Given the description of an element on the screen output the (x, y) to click on. 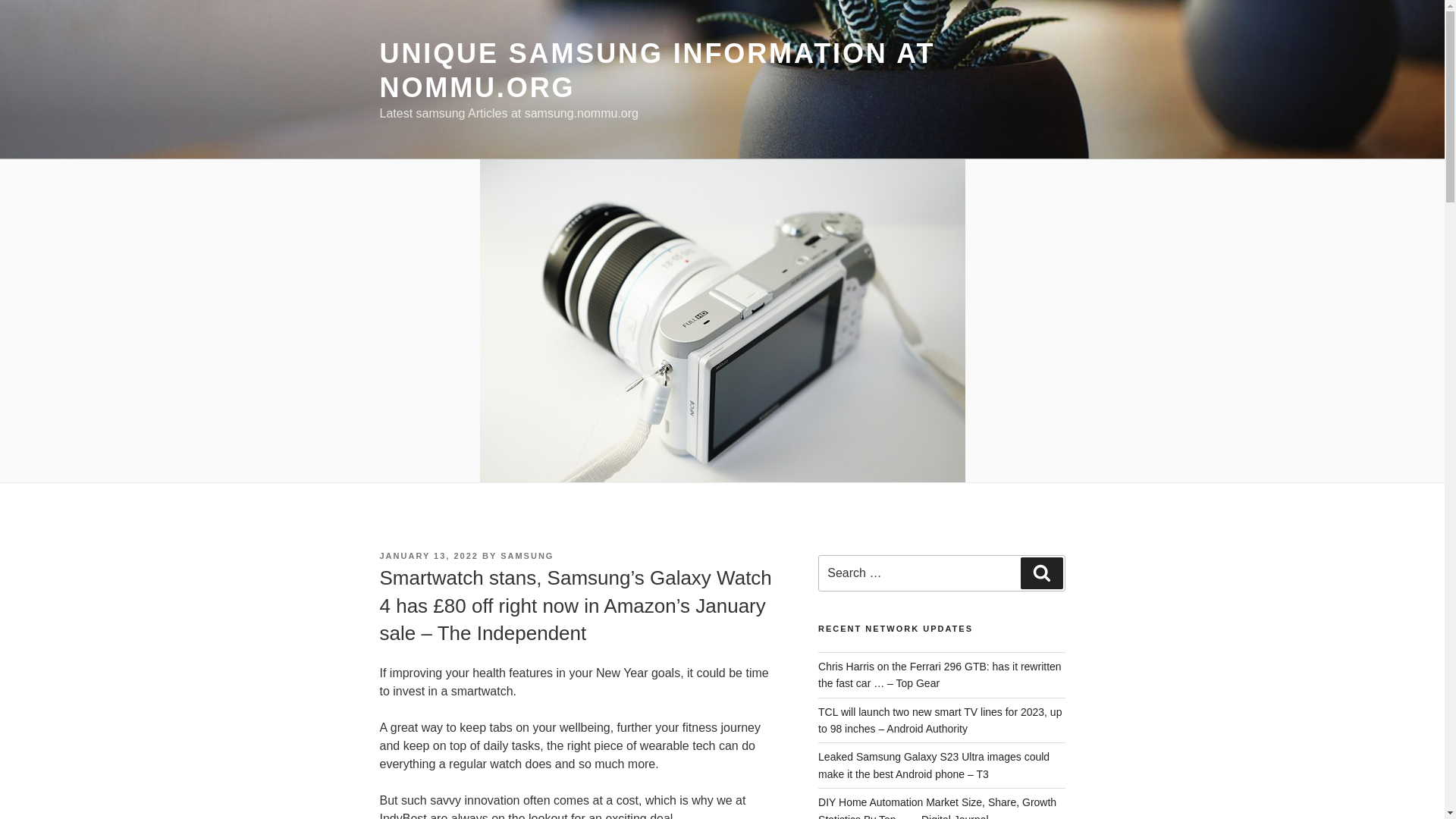
UNIQUE SAMSUNG INFORMATION AT NOMMU.ORG (656, 70)
SAMSUNG (526, 555)
JANUARY 13, 2022 (427, 555)
Search (1041, 572)
